Given the description of an element on the screen output the (x, y) to click on. 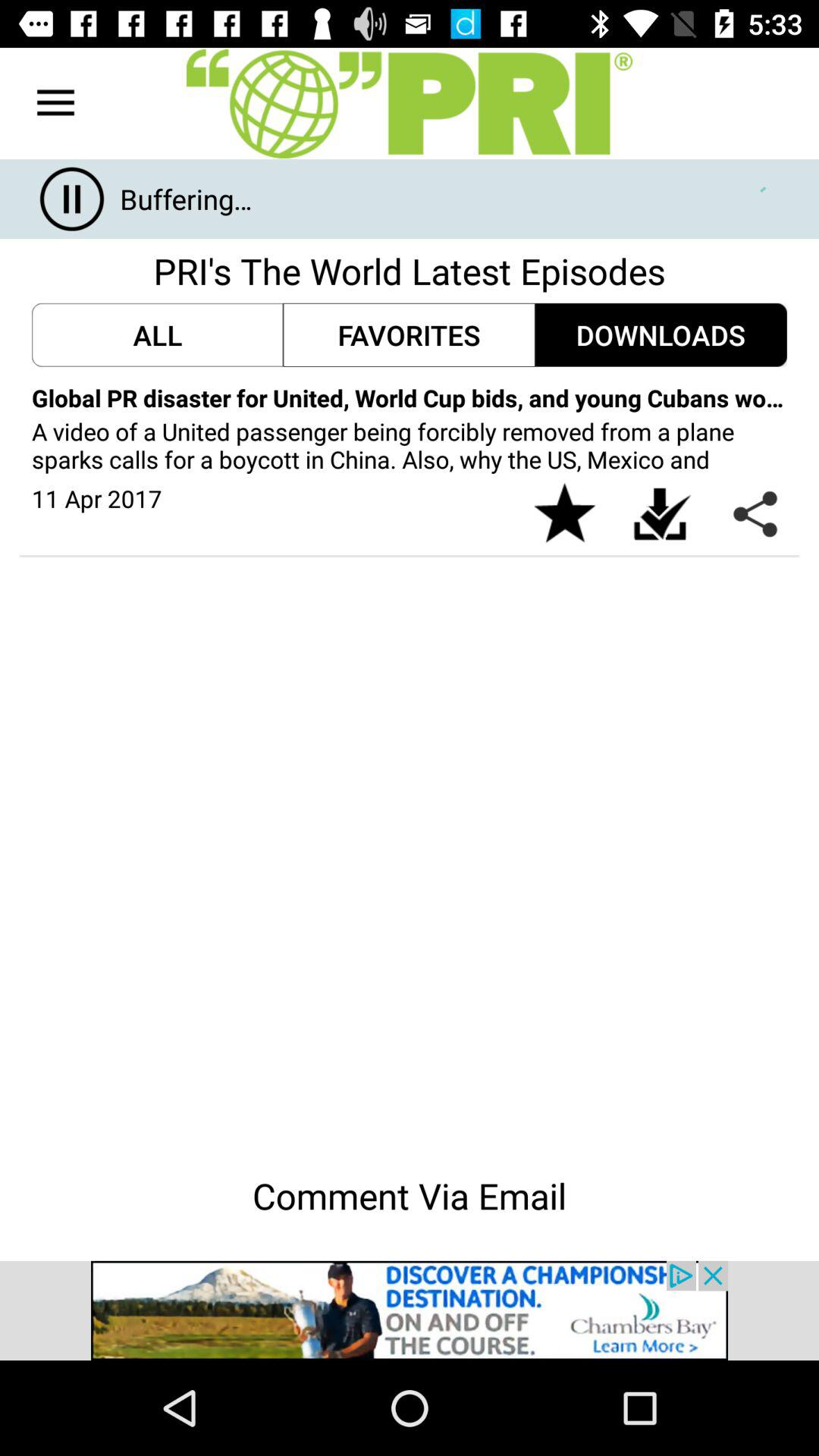
advertisement to get people to go to their website (409, 1310)
